Given the description of an element on the screen output the (x, y) to click on. 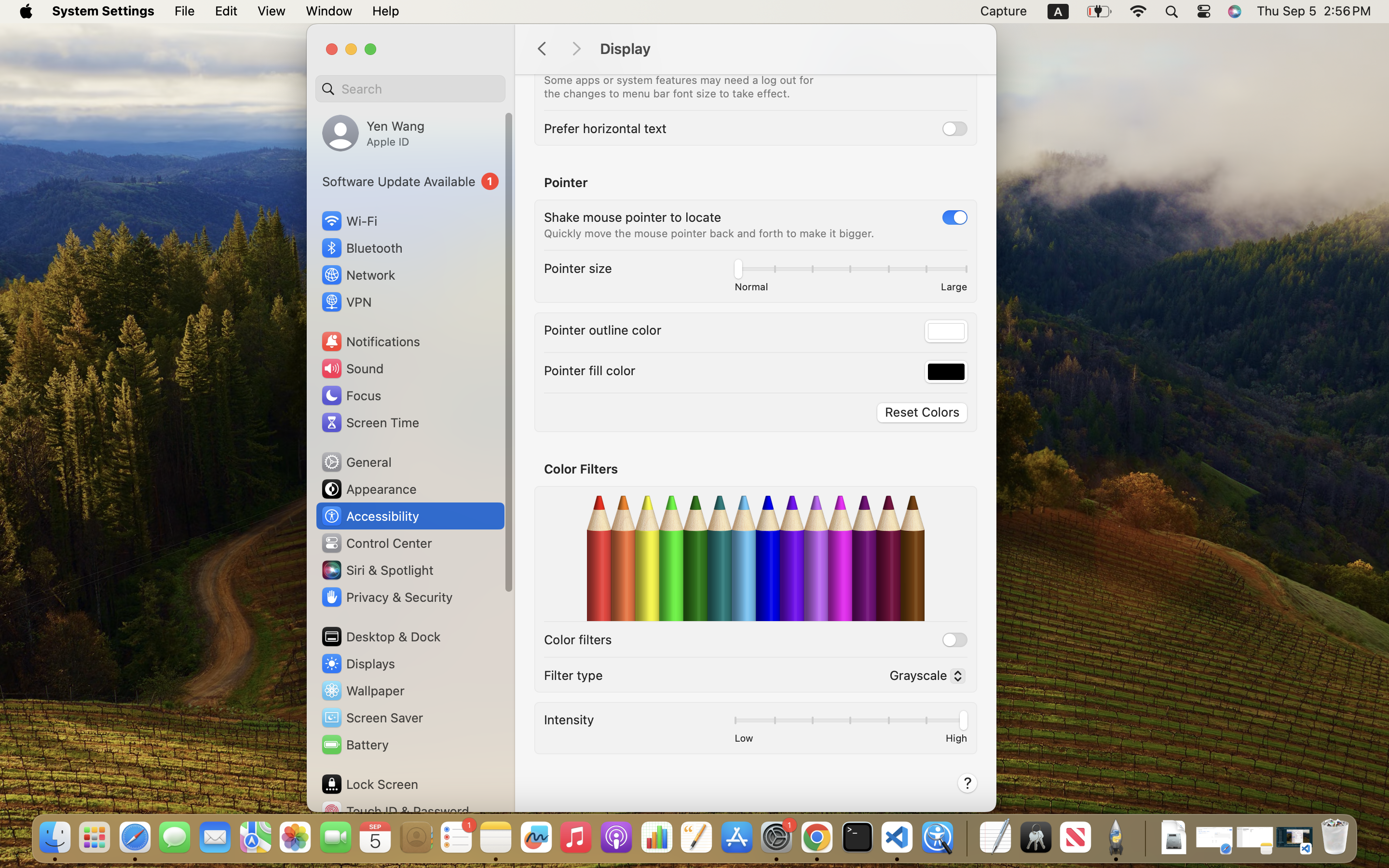
Screen Time Element type: AXStaticText (369, 422)
1.0 Element type: AXSlider (850, 721)
Focus Element type: AXStaticText (350, 394)
Quickly move the mouse pointer back and forth to make it bigger. Element type: AXStaticText (708, 233)
Filter type Element type: AXStaticText (573, 674)
